Given the description of an element on the screen output the (x, y) to click on. 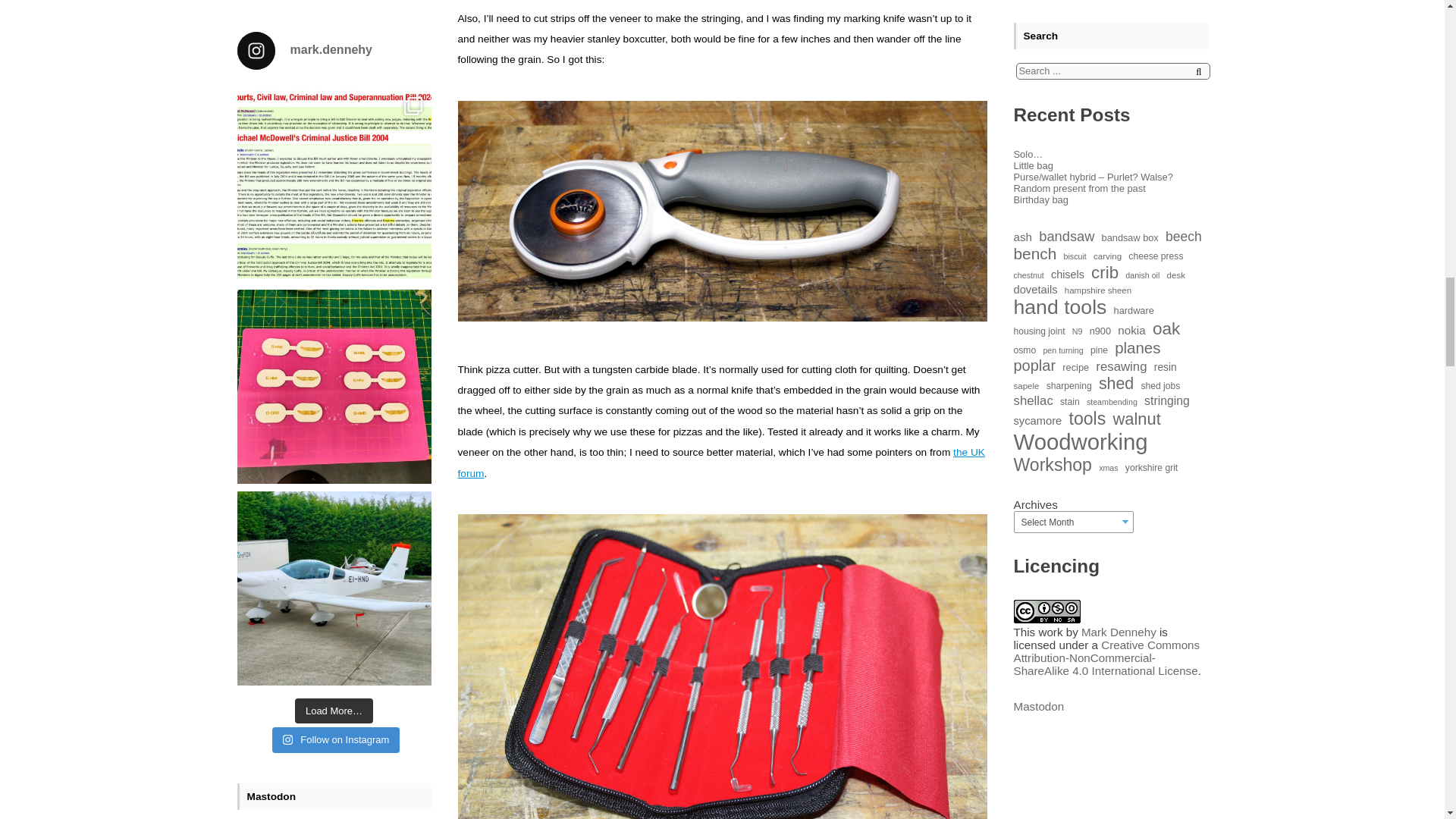
the UK forum (721, 462)
